Given the description of an element on the screen output the (x, y) to click on. 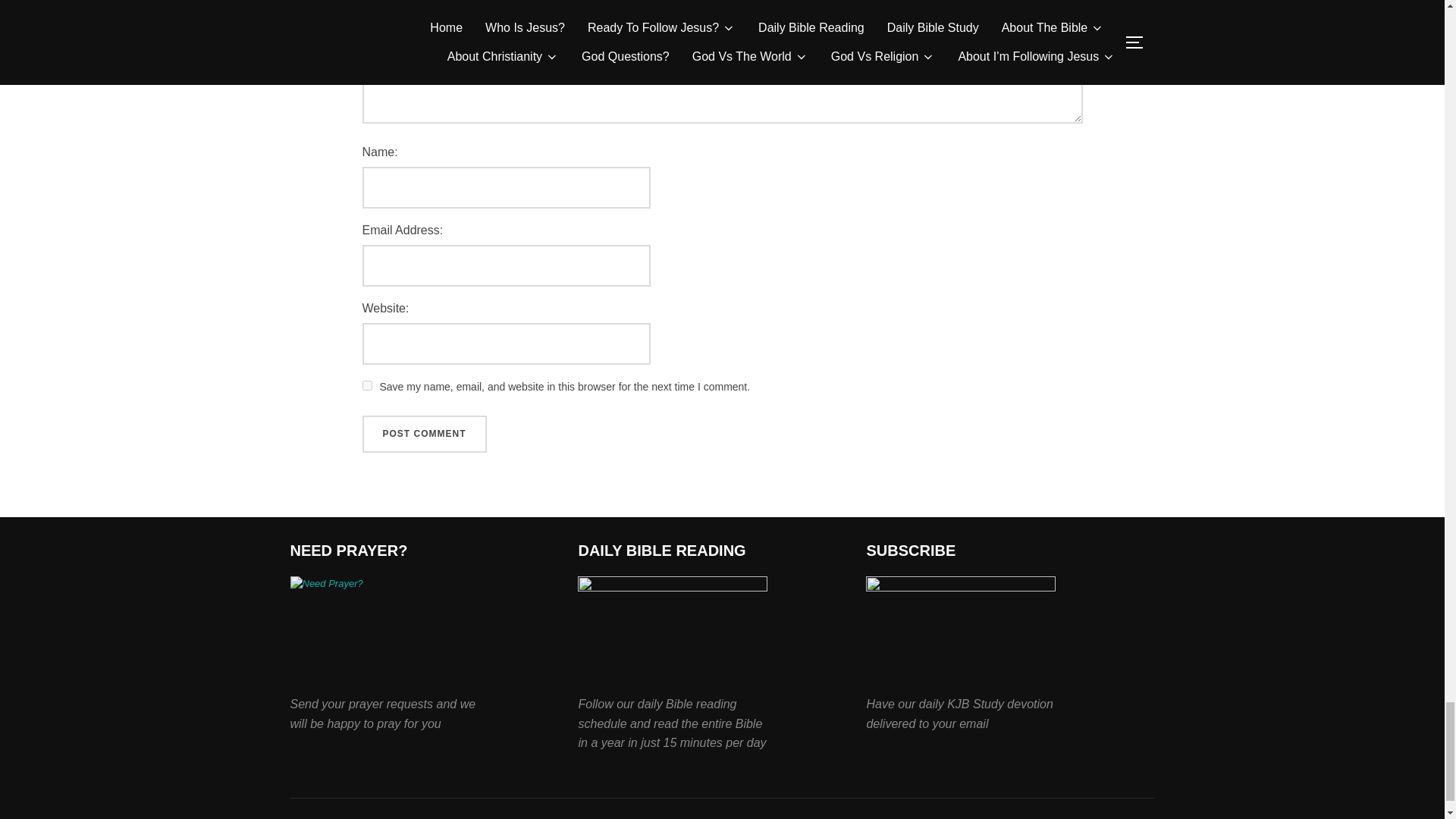
Post Comment (424, 434)
yes (367, 385)
